Given the description of an element on the screen output the (x, y) to click on. 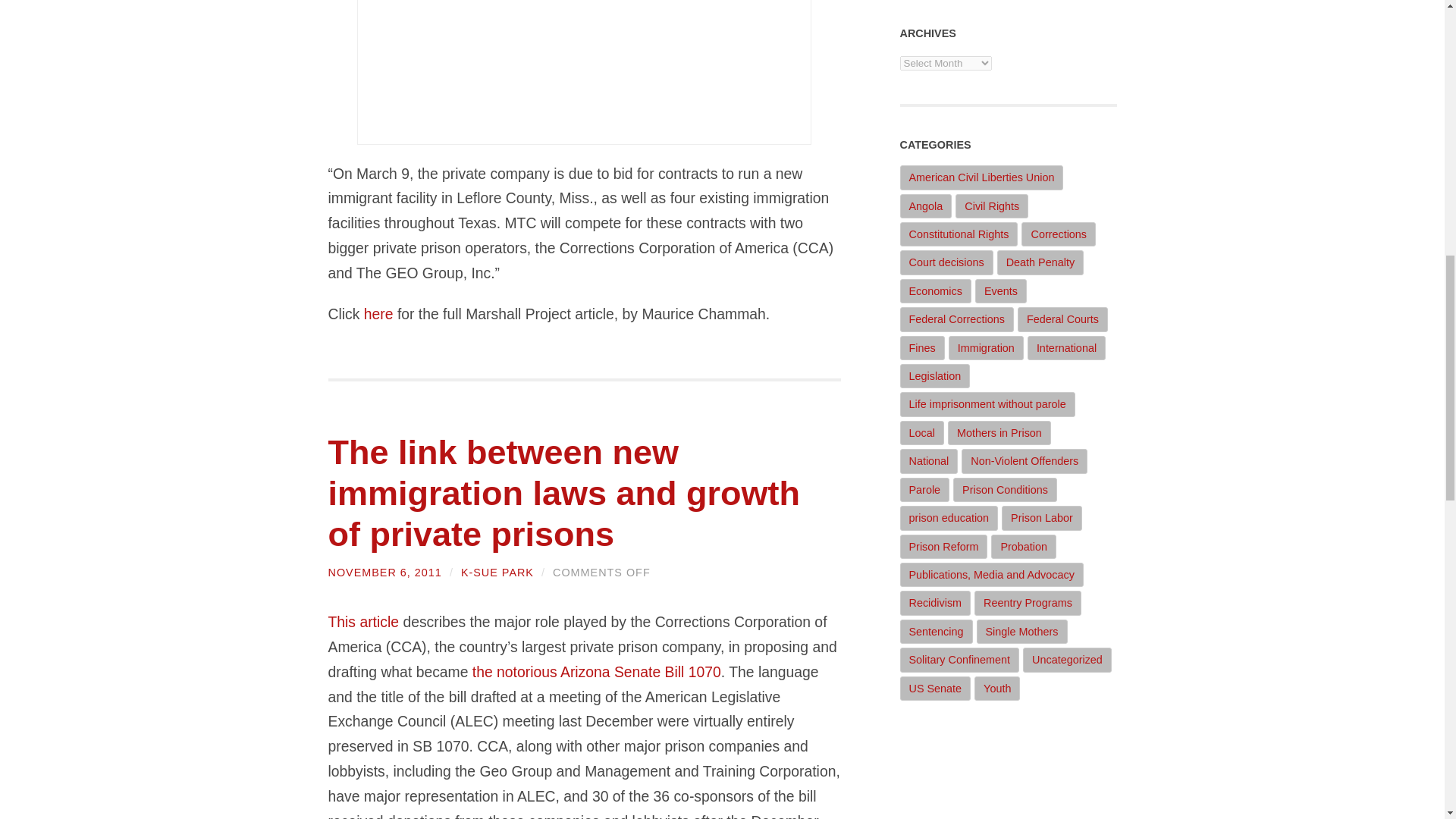
Economics (935, 291)
Posts by k-sue park (497, 572)
American Civil Liberties Union (980, 177)
K-SUE PARK (497, 572)
Corrections (1059, 233)
Civil Rights (991, 206)
This article (362, 621)
